Given the description of an element on the screen output the (x, y) to click on. 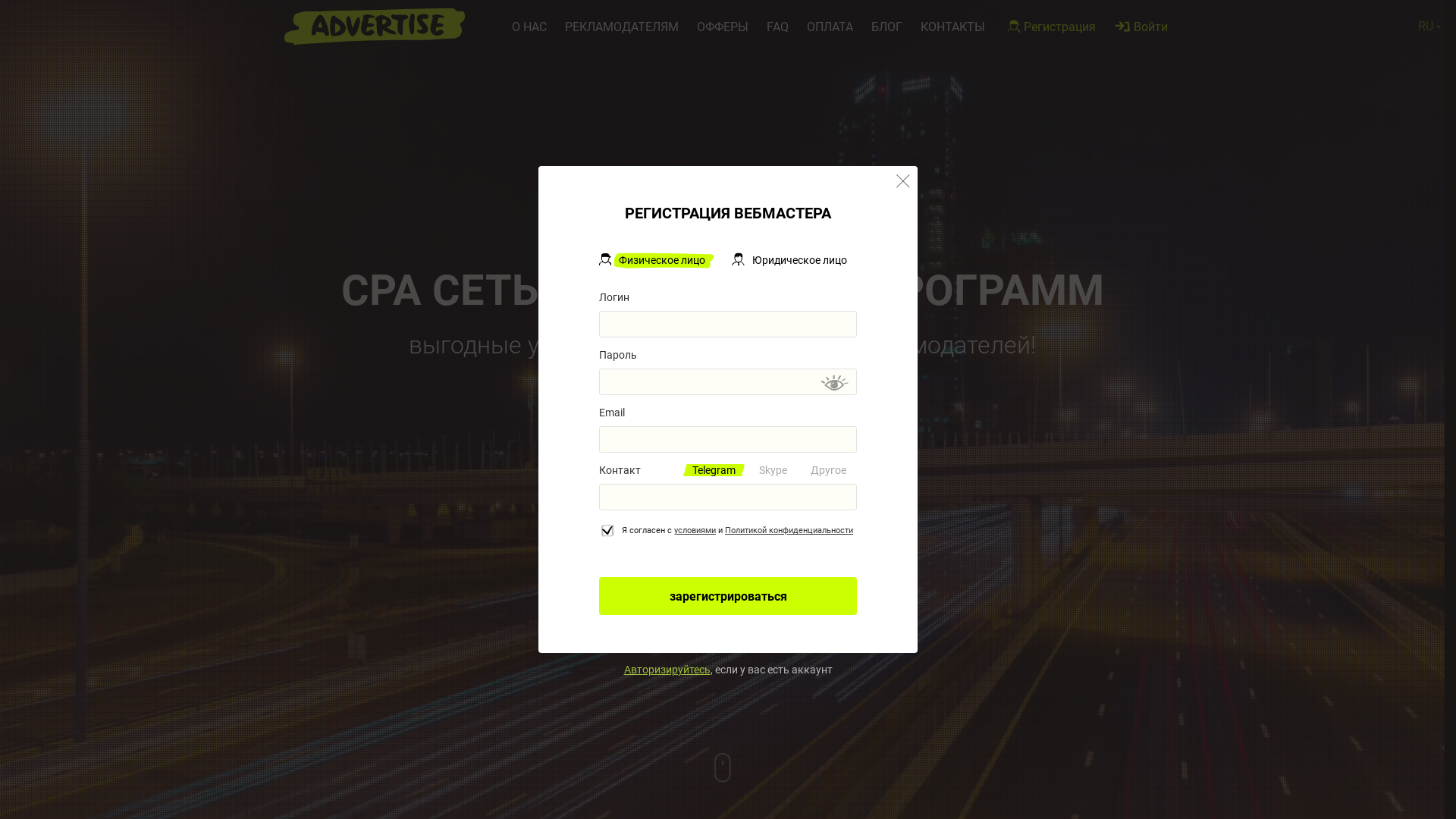
FAQ Element type: text (777, 26)
